Given the description of an element on the screen output the (x, y) to click on. 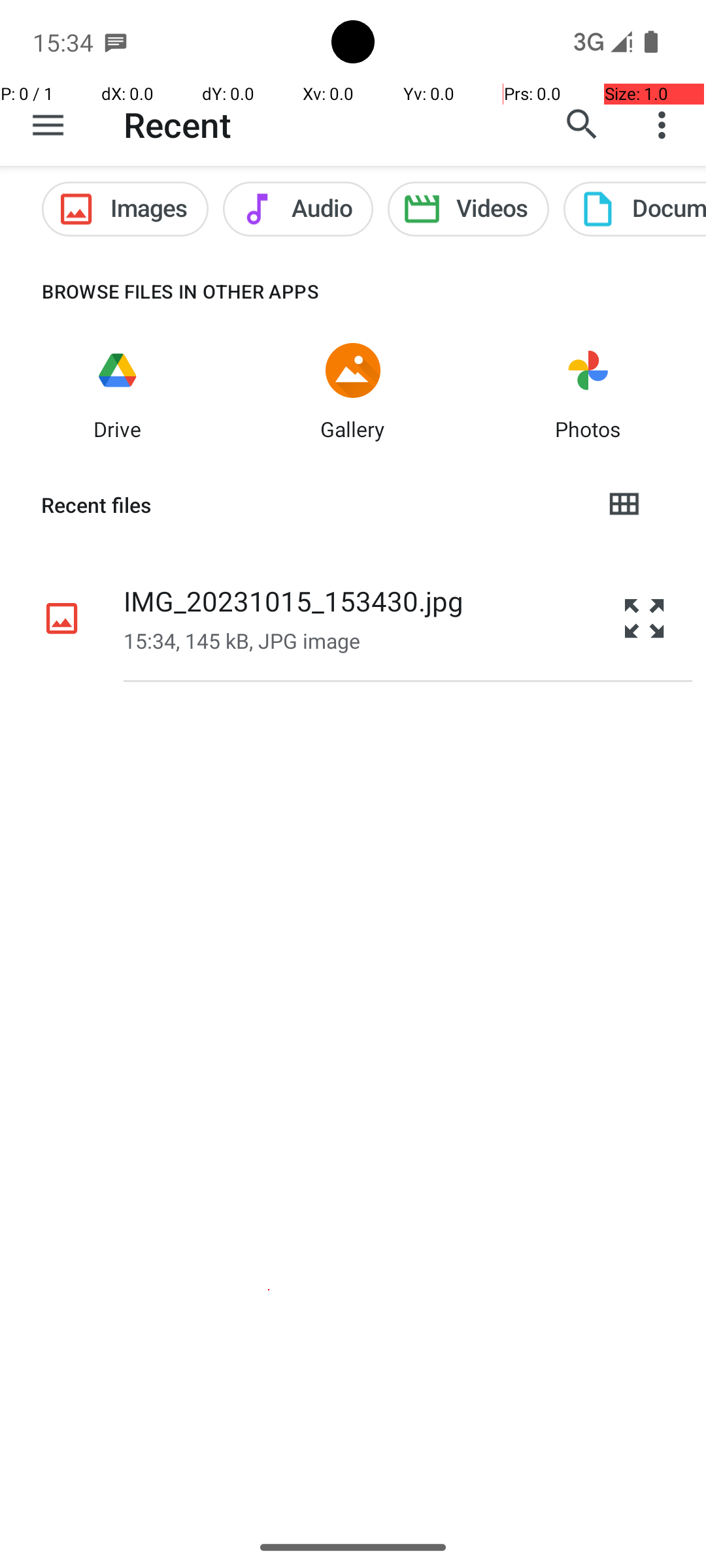
BROWSE FILES IN OTHER APPS Element type: android.widget.TextView (159, 291)
Recent files Element type: android.widget.TextView (311, 504)
IMG_20231015_153430.jpg Element type: android.widget.TextView (293, 600)
15:34, 145 kB, JPG image Element type: android.widget.TextView (241, 640)
Preview the file IMG_20231015_153430.jpg Element type: android.widget.FrameLayout (644, 618)
